Given the description of an element on the screen output the (x, y) to click on. 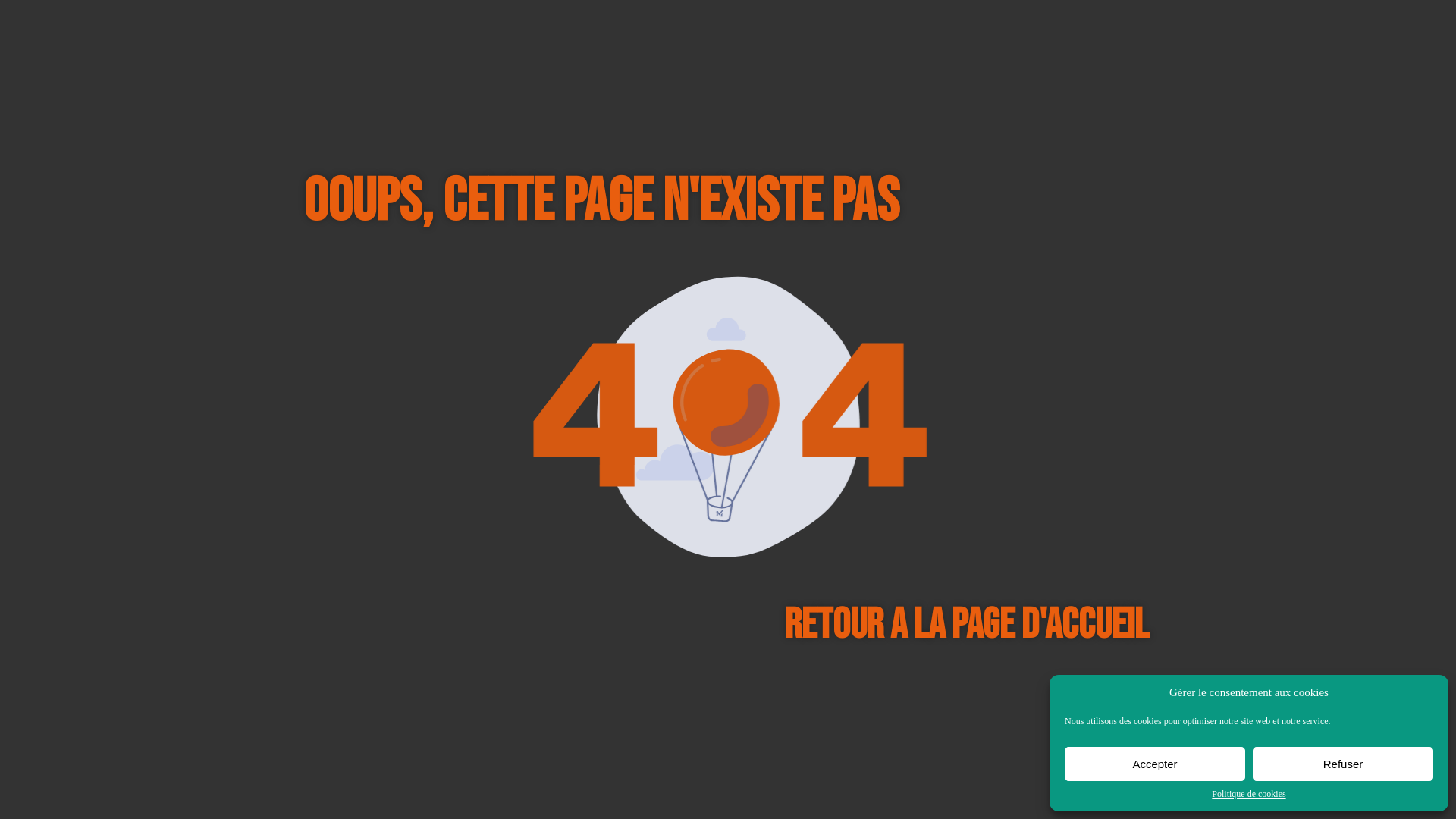
Retour a la page d'accueil Element type: text (968, 625)
Accepter Element type: text (1154, 763)
Refuser Element type: text (1342, 763)
Politique de cookies Element type: text (1248, 794)
